Given the description of an element on the screen output the (x, y) to click on. 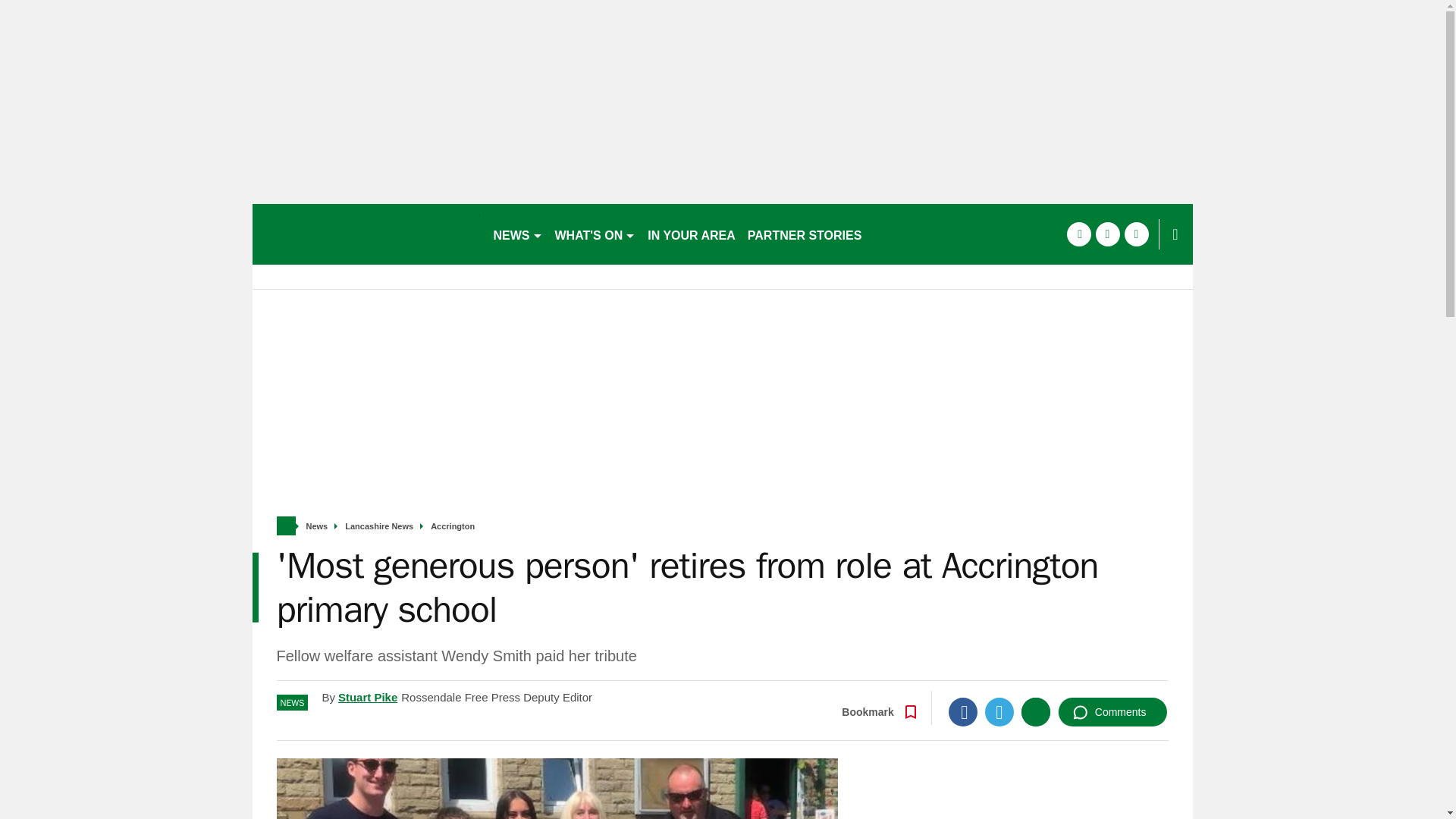
accrington (365, 233)
Facebook (962, 711)
IN YOUR AREA (691, 233)
facebook (1077, 233)
twitter (1106, 233)
instagram (1136, 233)
PARTNER STORIES (804, 233)
Twitter (999, 711)
NEWS (517, 233)
WHAT'S ON (595, 233)
